Given the description of an element on the screen output the (x, y) to click on. 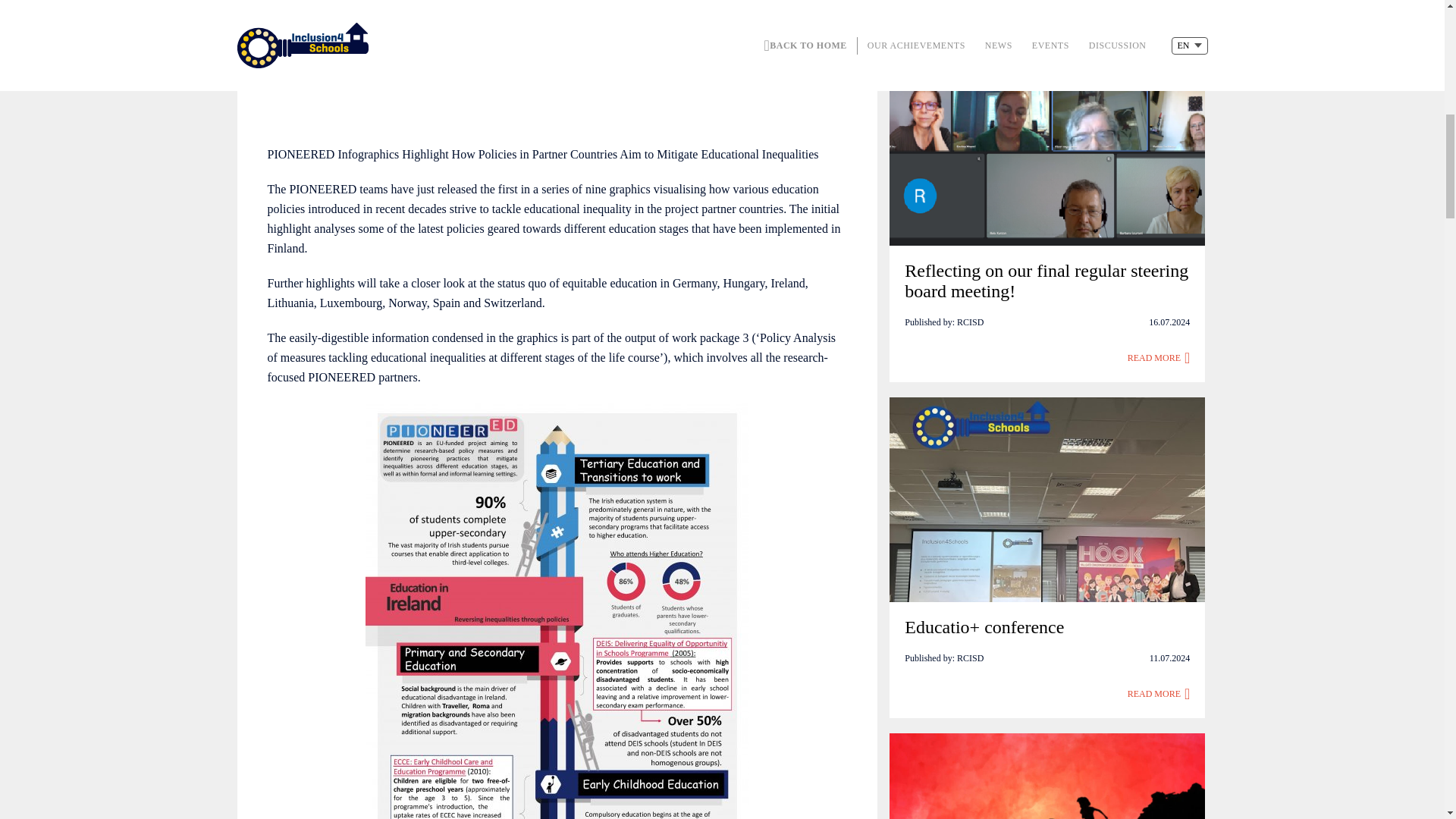
READ MORE (1158, 357)
READ MORE (1158, 693)
